Given the description of an element on the screen output the (x, y) to click on. 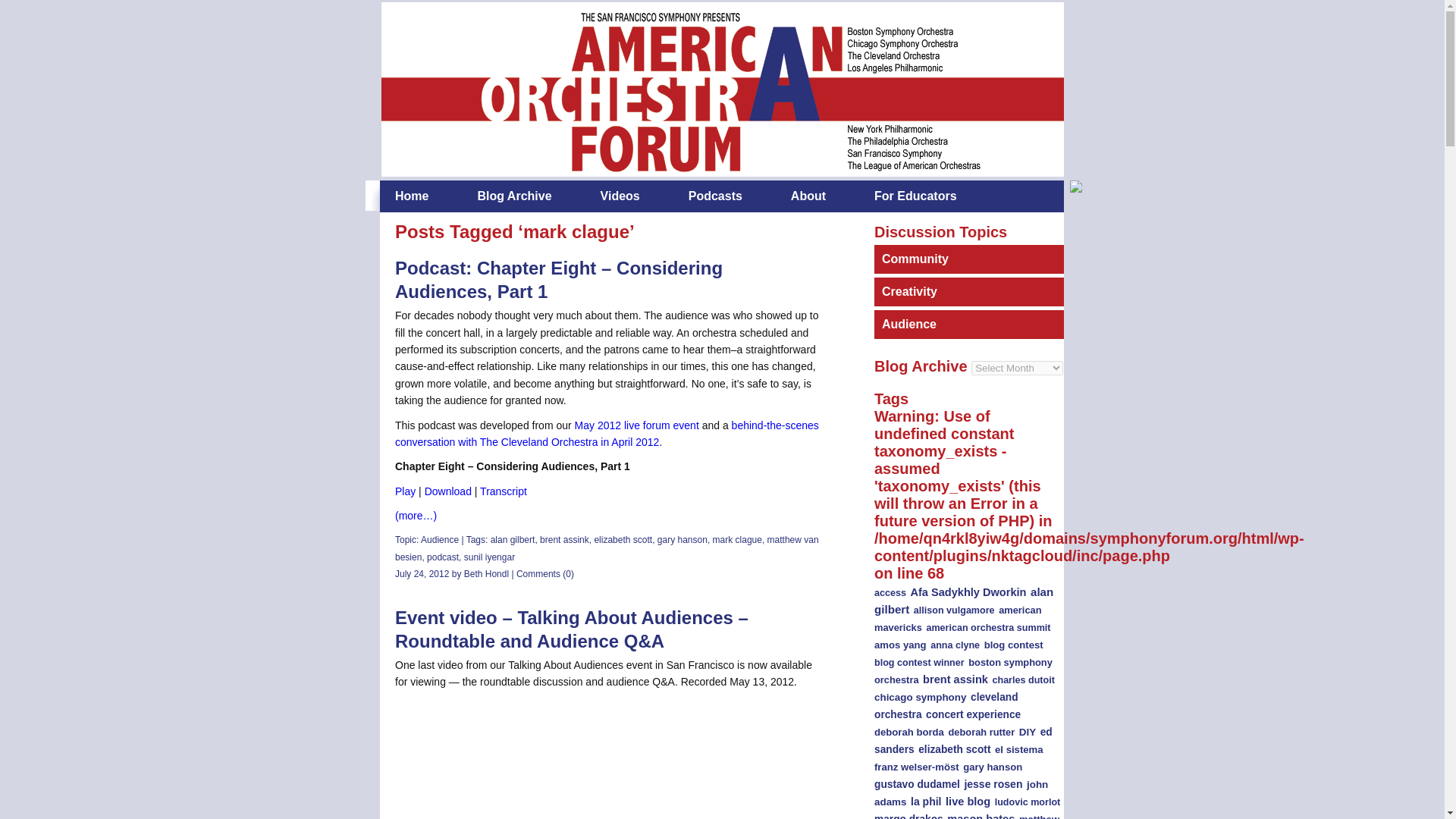
Podcasts (715, 195)
Blog Archive (514, 195)
Play (404, 491)
elizabeth scott (623, 539)
Download (448, 491)
About (807, 195)
May 2012 live forum event (636, 424)
brent assink (564, 539)
matthew van besien (606, 547)
